Given the description of an element on the screen output the (x, y) to click on. 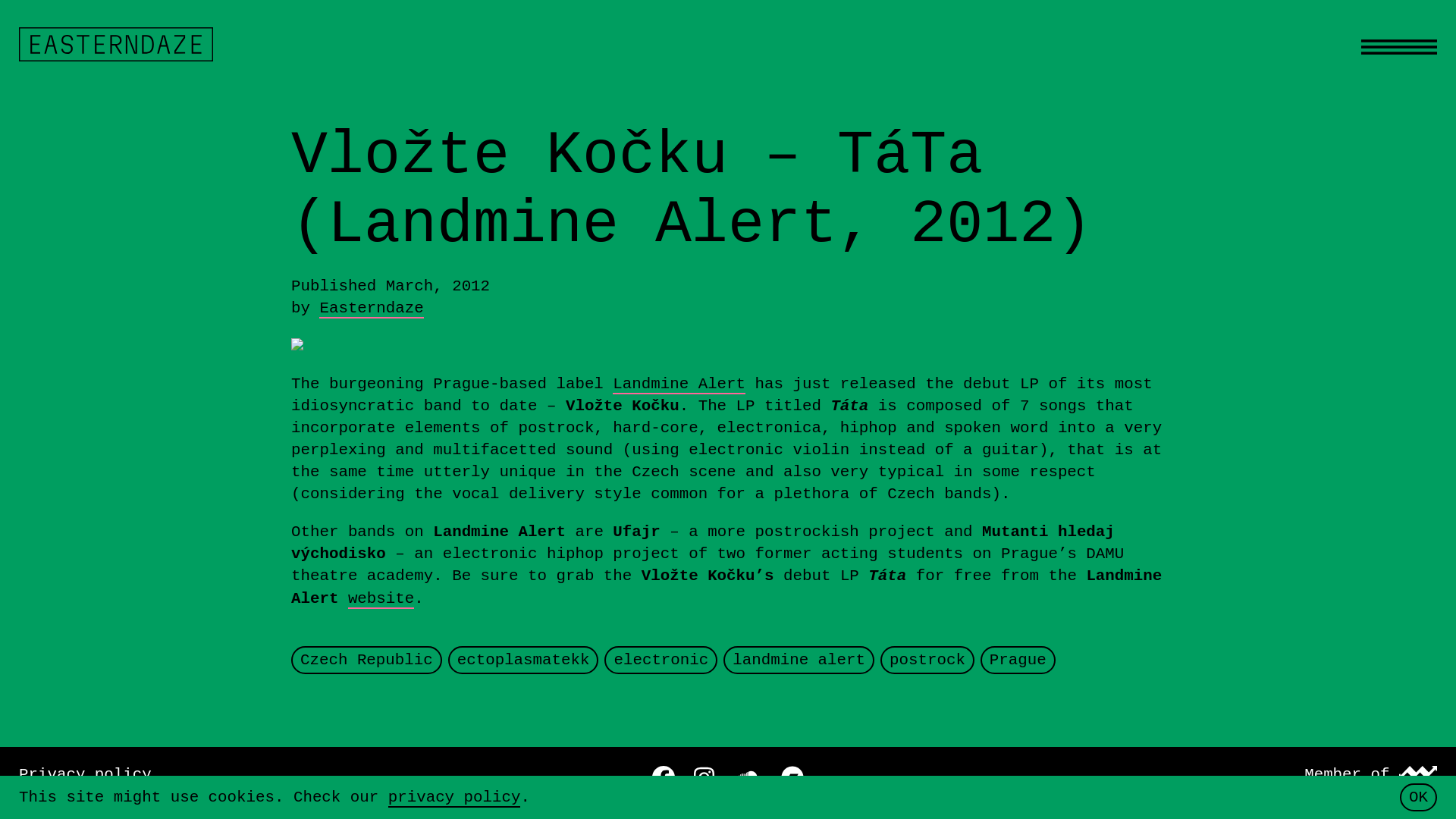
Landmine Alert (678, 384)
postrock (927, 660)
electronic (659, 660)
website (380, 599)
landmine alert (798, 660)
EASTERDAZE (115, 44)
Easterndaze (370, 308)
ectoplasmatekk (523, 660)
Czech Republic (365, 660)
Prague (1018, 660)
